Given the description of an element on the screen output the (x, y) to click on. 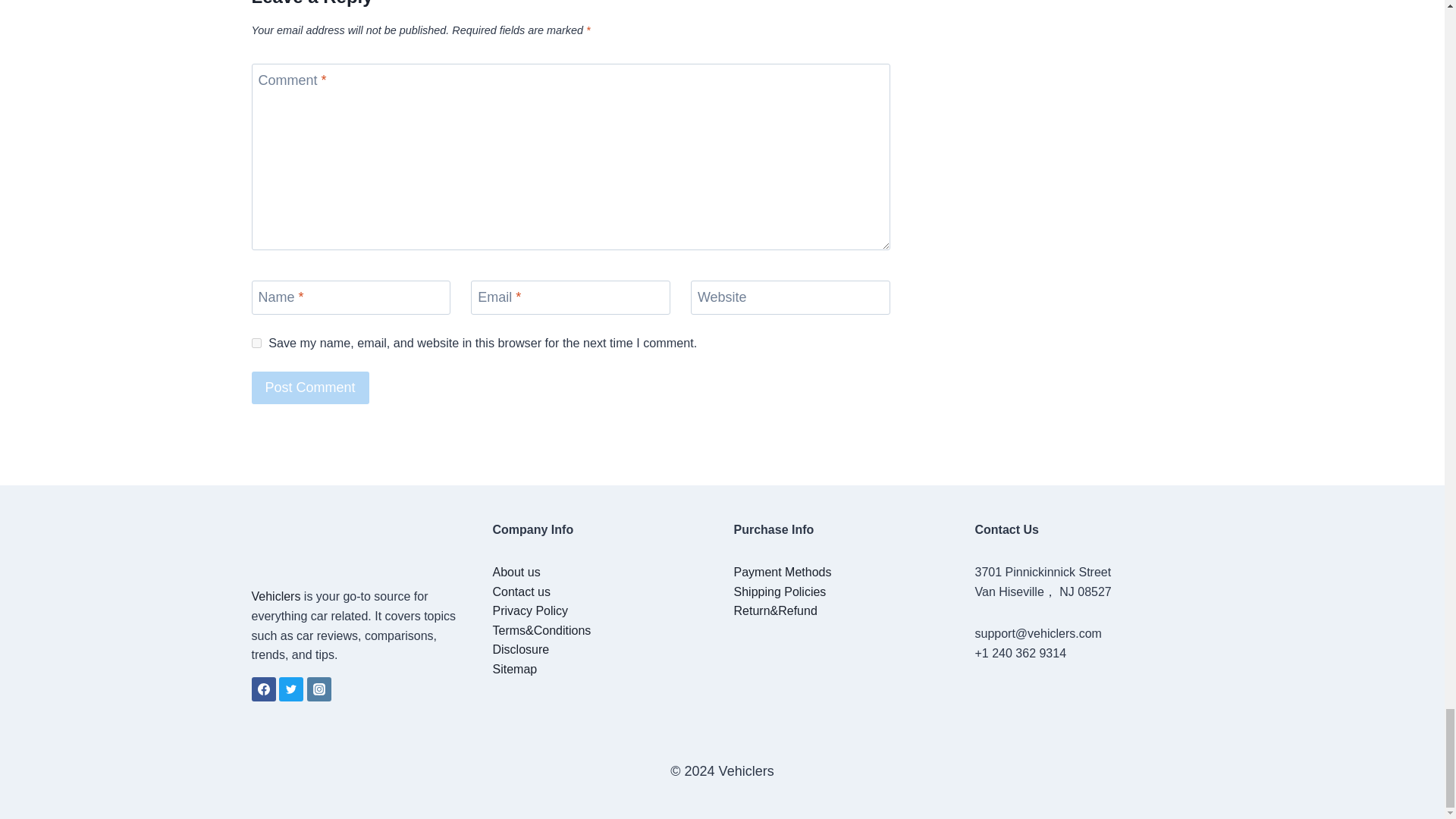
yes (256, 343)
Post Comment (310, 387)
